Given the description of an element on the screen output the (x, y) to click on. 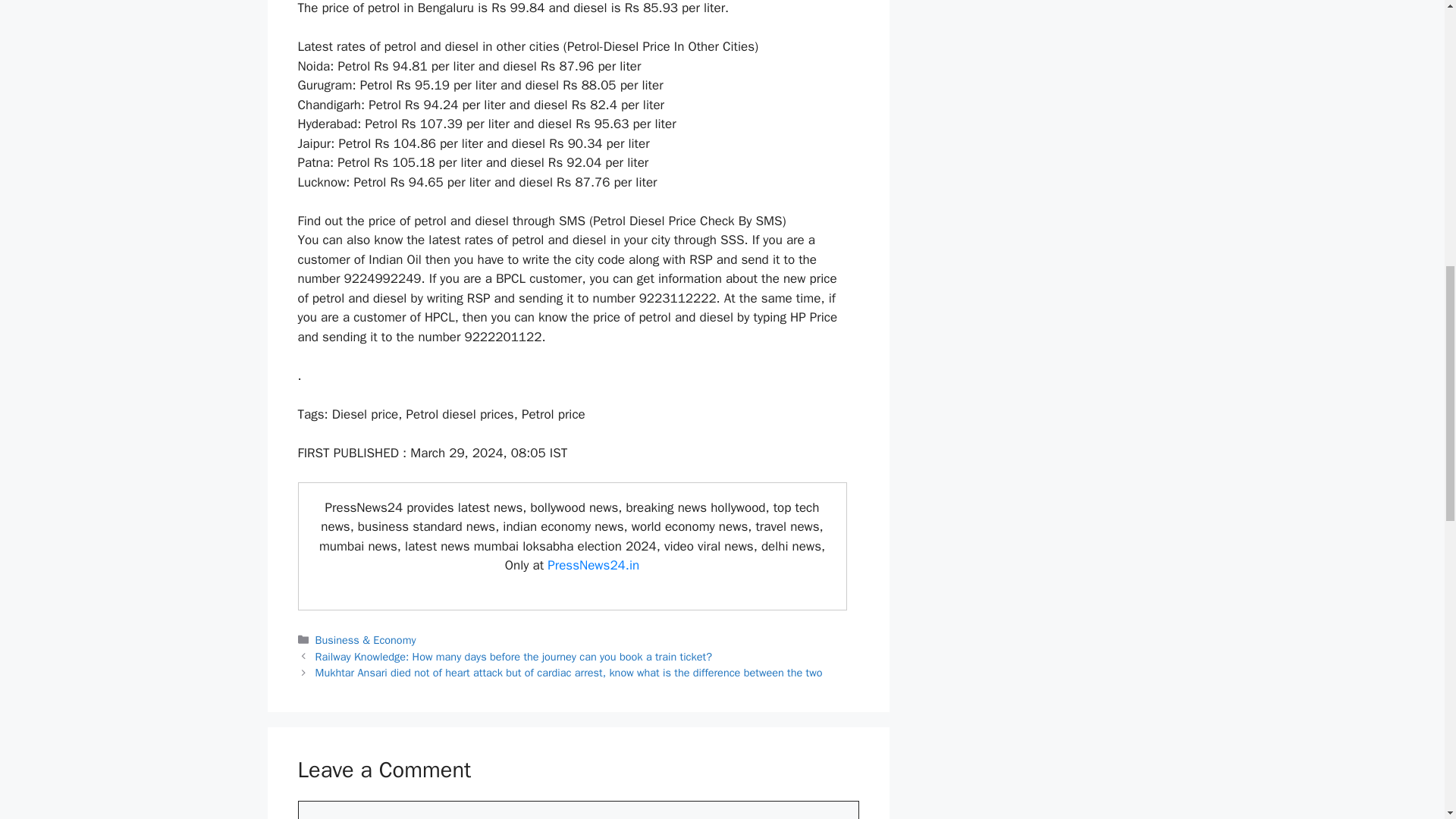
PressNews24.in (593, 565)
